Given the description of an element on the screen output the (x, y) to click on. 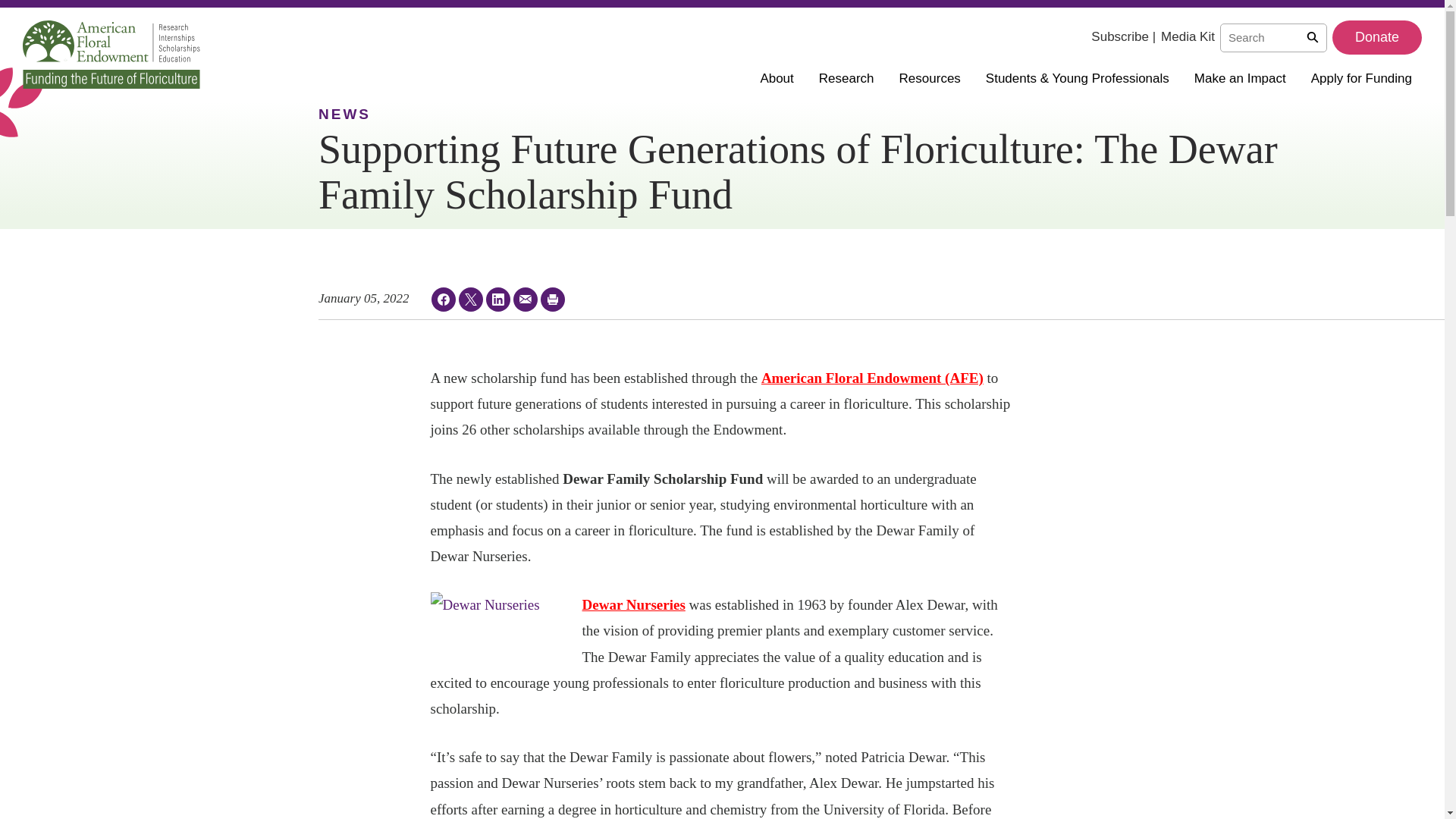
Research (850, 77)
Resources (935, 77)
About (781, 77)
homepage (111, 54)
Make an Impact (1244, 77)
